Given the description of an element on the screen output the (x, y) to click on. 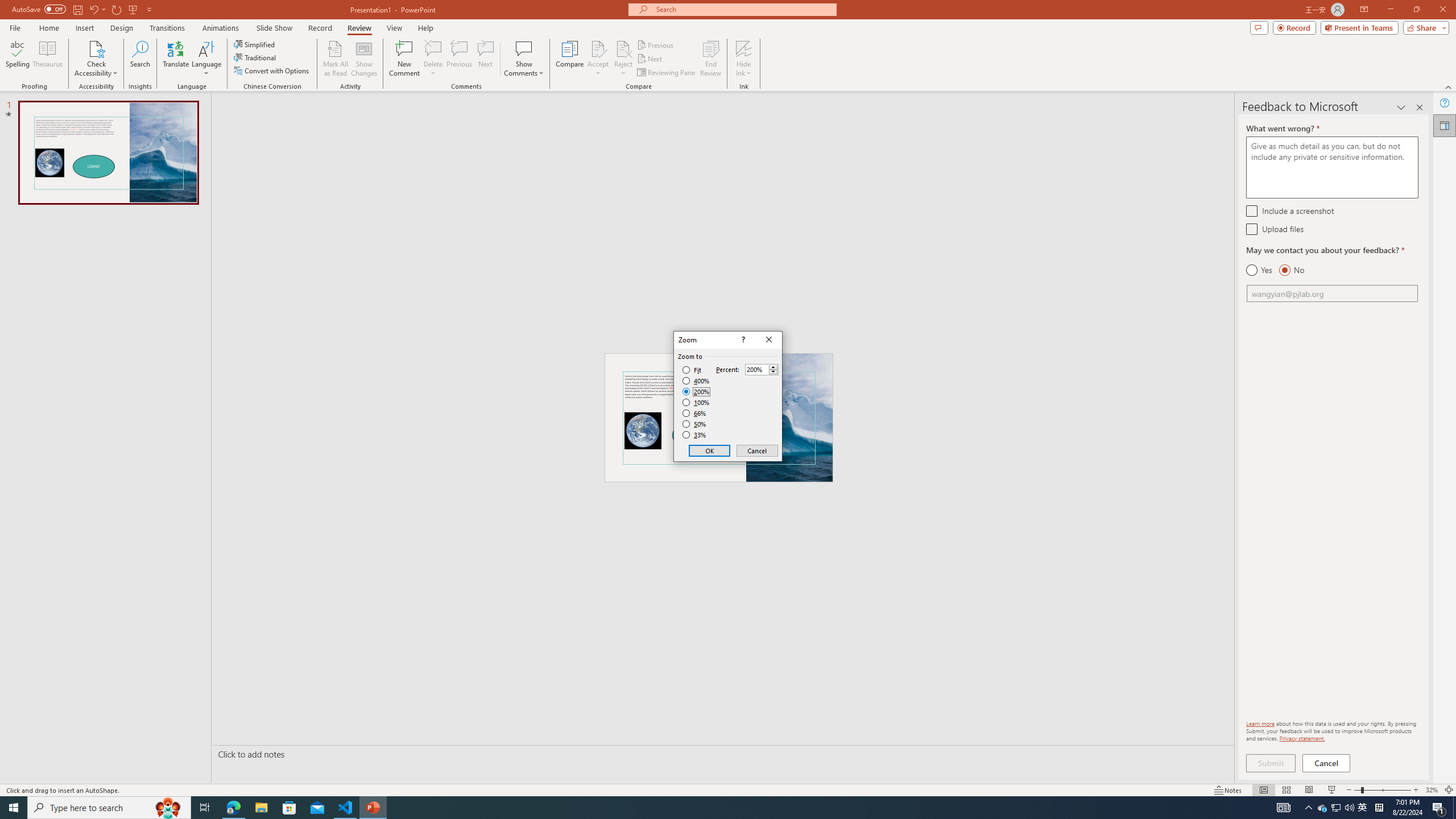
What went wrong? * (1332, 167)
OK (709, 450)
No (1291, 269)
